Given the description of an element on the screen output the (x, y) to click on. 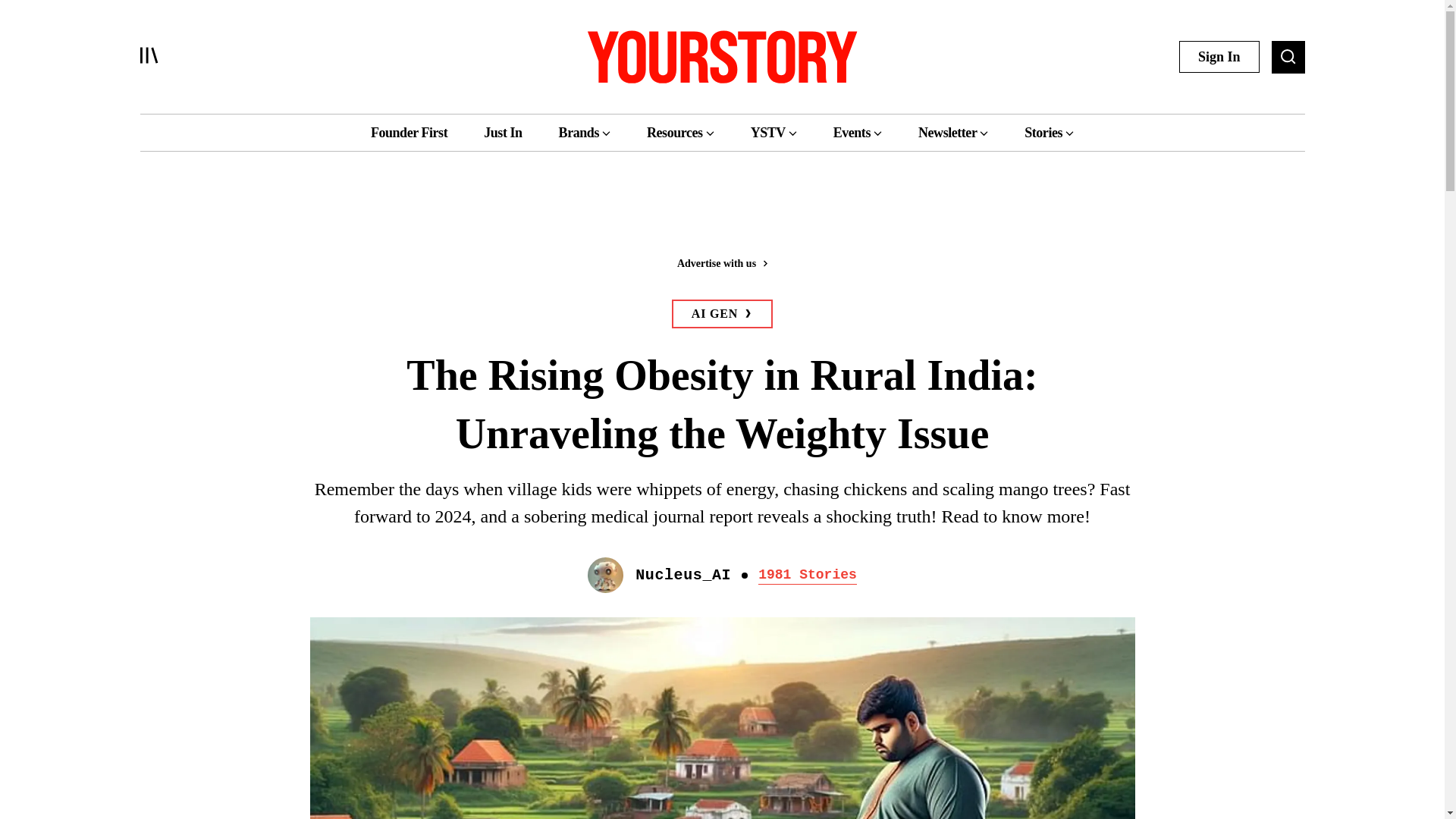
AI GEN (722, 313)
Just In (502, 132)
1981 Stories (807, 574)
Founder First (408, 132)
3rd party ad content (721, 213)
Advertise with us (721, 263)
